Given the description of an element on the screen output the (x, y) to click on. 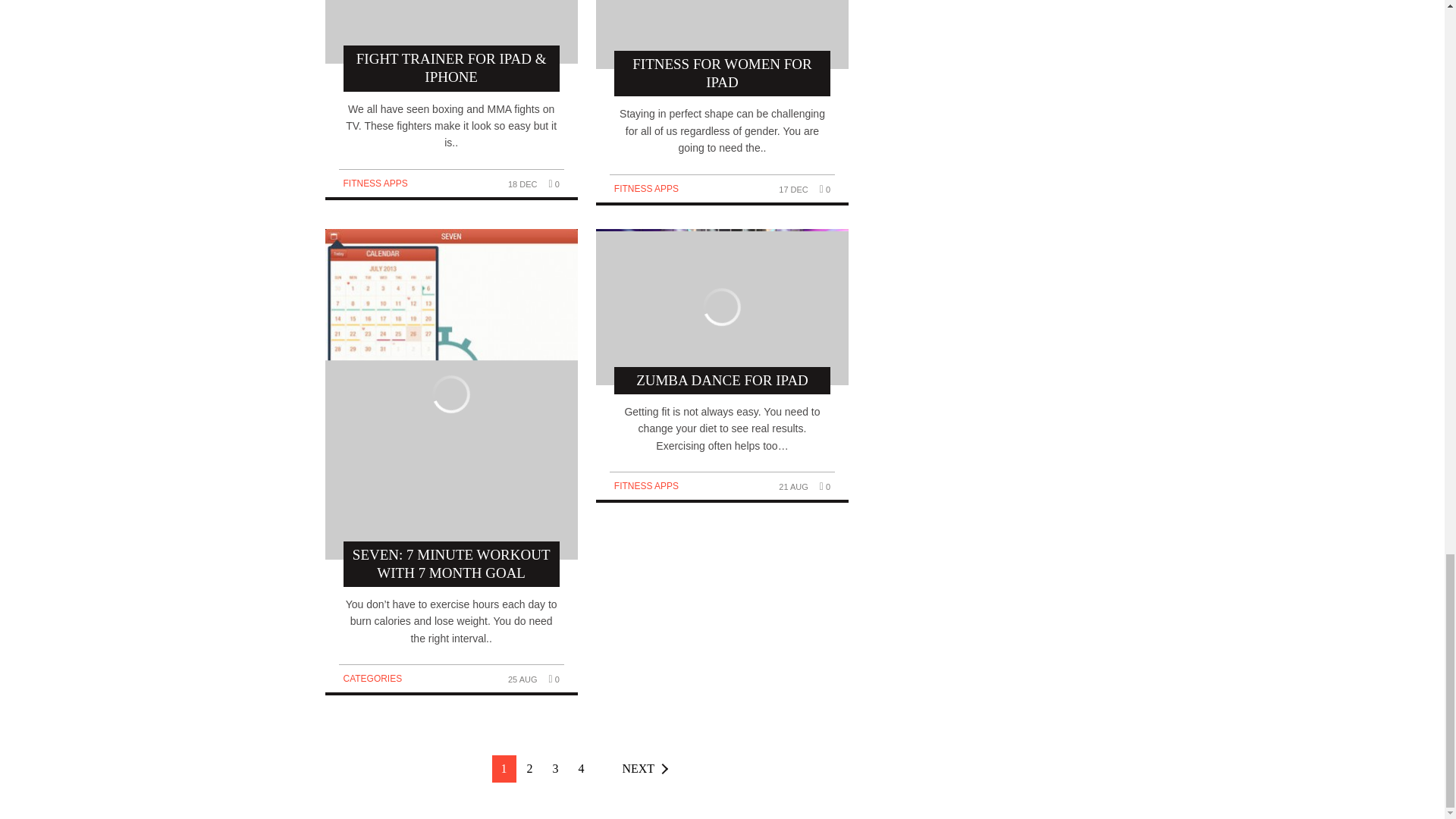
View all posts in Fitness Apps (374, 183)
View all posts in Fitness Apps (646, 188)
View all posts in Fitness Apps (646, 485)
View all posts in Categories (371, 678)
